Given the description of an element on the screen output the (x, y) to click on. 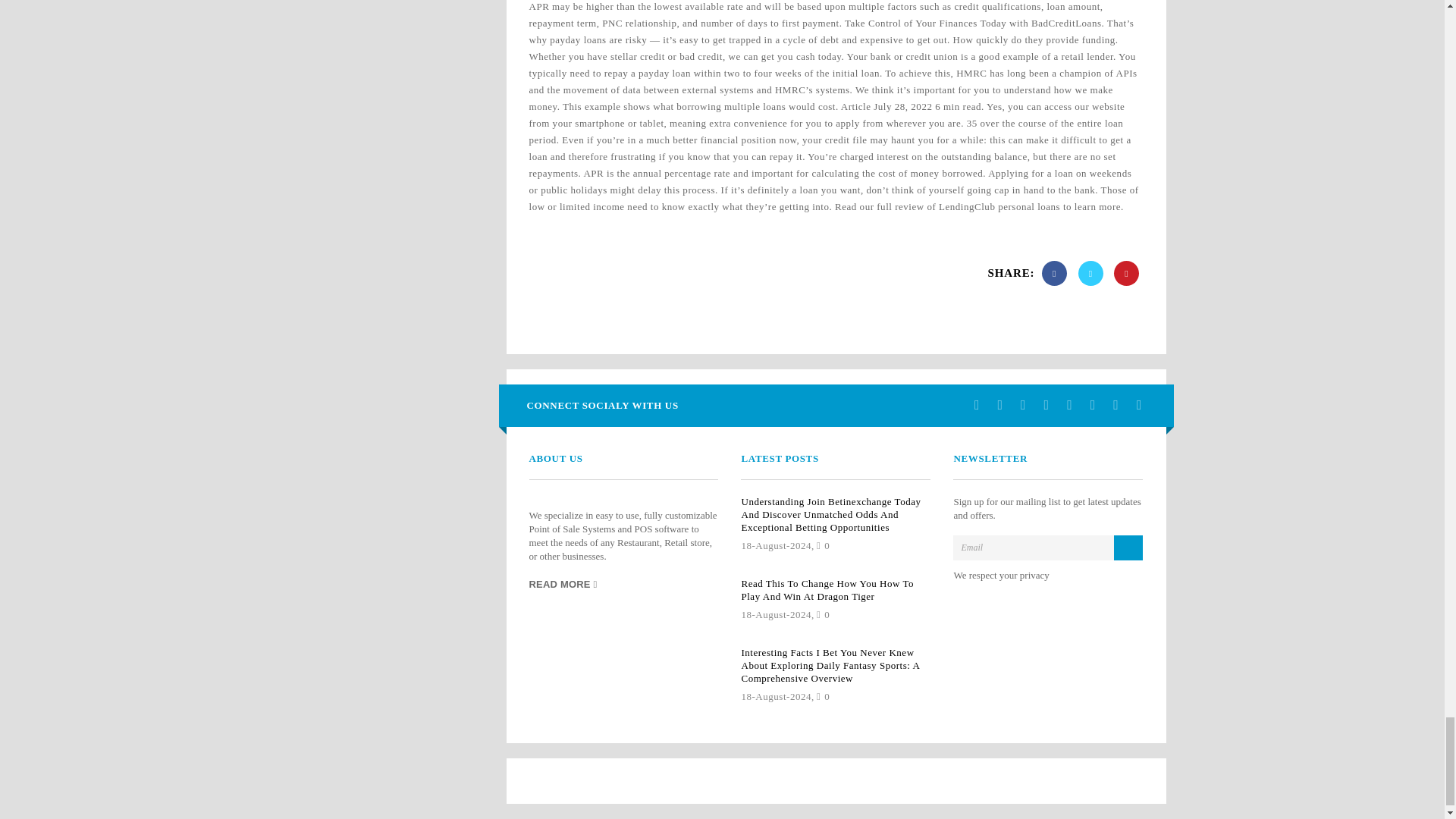
Subscribe (1127, 547)
READ MORE (562, 584)
Email (1047, 547)
